Given the description of an element on the screen output the (x, y) to click on. 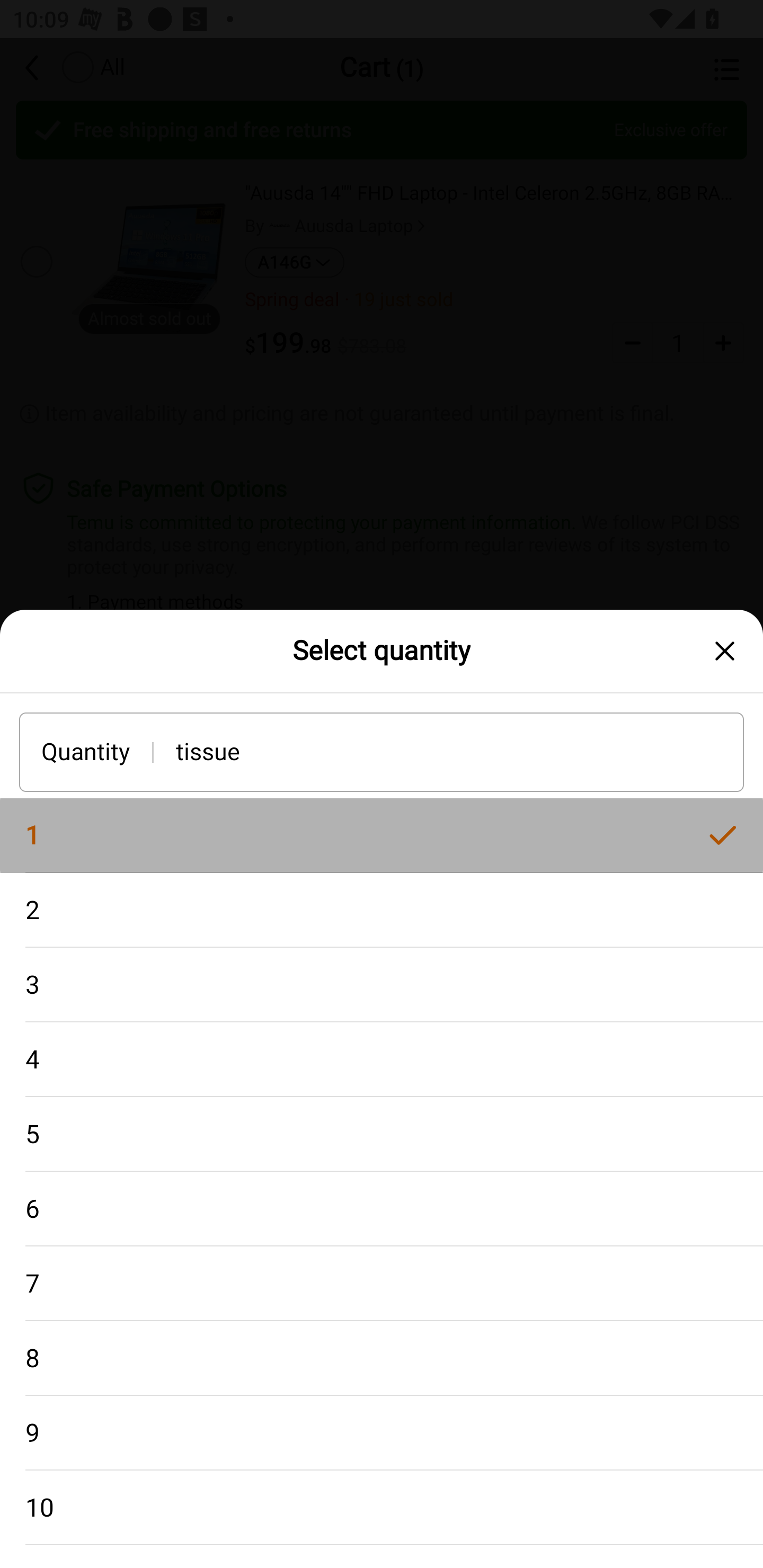
close (724, 650)
tissue (459, 751)
1 (381, 835)
2 (381, 910)
3 (381, 984)
4 (381, 1059)
5 (381, 1134)
6 (381, 1208)
7 (381, 1283)
8 (381, 1358)
9 (381, 1432)
10 (381, 1507)
